Given the description of an element on the screen output the (x, y) to click on. 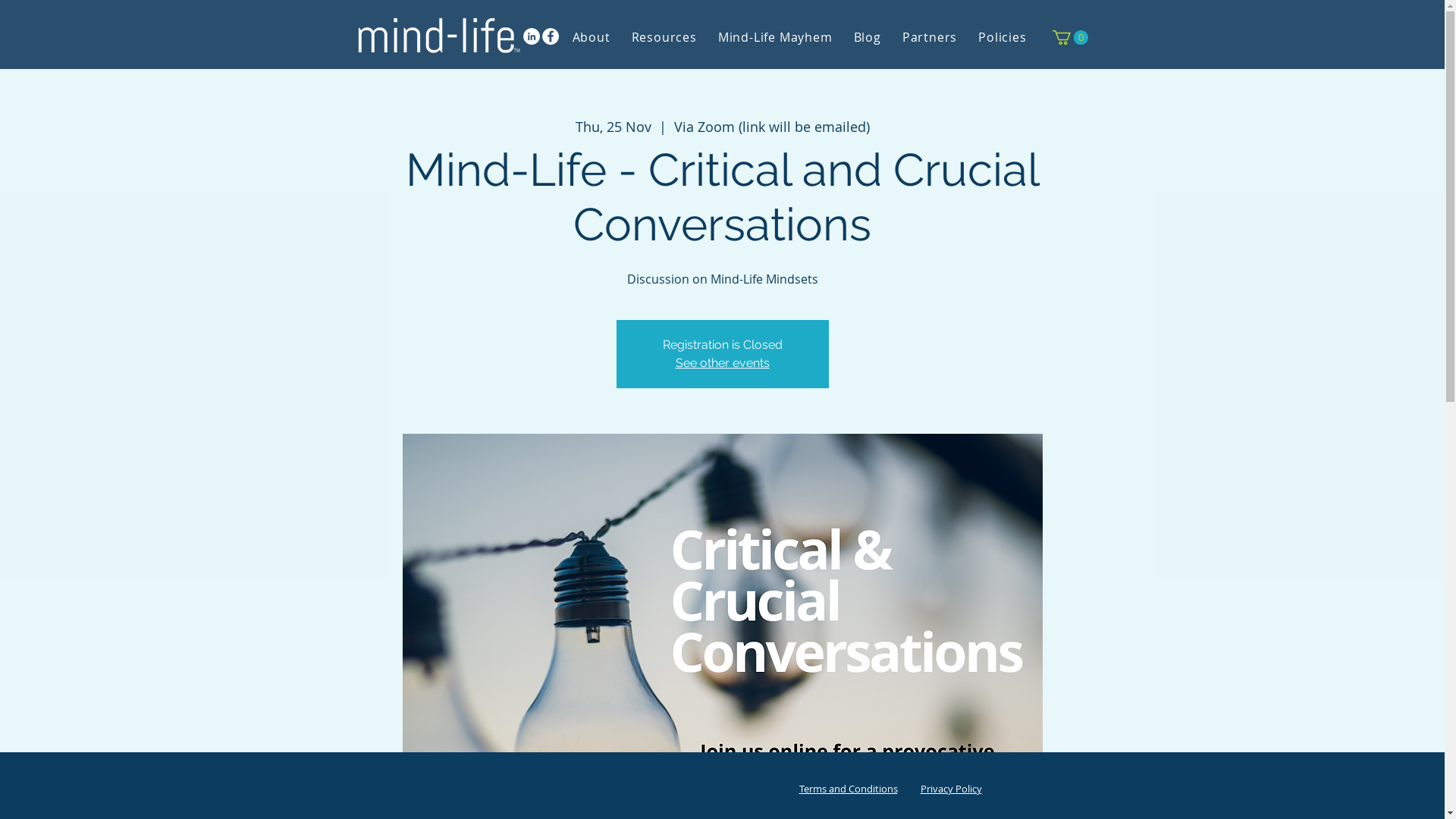
See other events Element type: text (721, 362)
Mind-Life Mayhem Element type: text (775, 37)
Partners Element type: text (929, 37)
Blog Element type: text (867, 37)
Terms and Conditions Element type: text (848, 788)
0 Element type: text (1070, 37)
About Element type: text (590, 37)
Resources Element type: text (663, 37)
Privacy Policy Element type: text (951, 788)
